Given the description of an element on the screen output the (x, y) to click on. 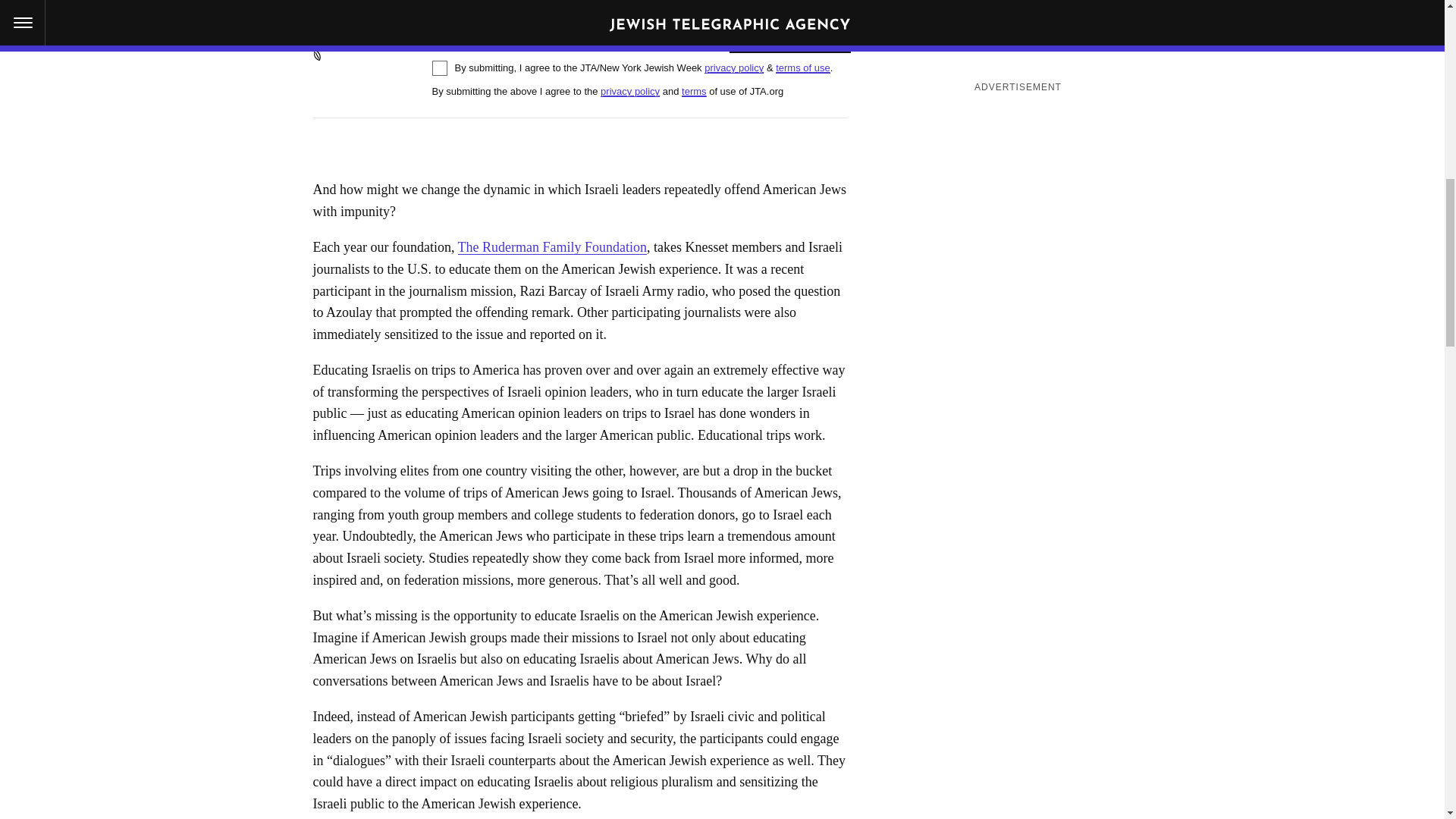
Sign Up (786, 31)
